Given the description of an element on the screen output the (x, y) to click on. 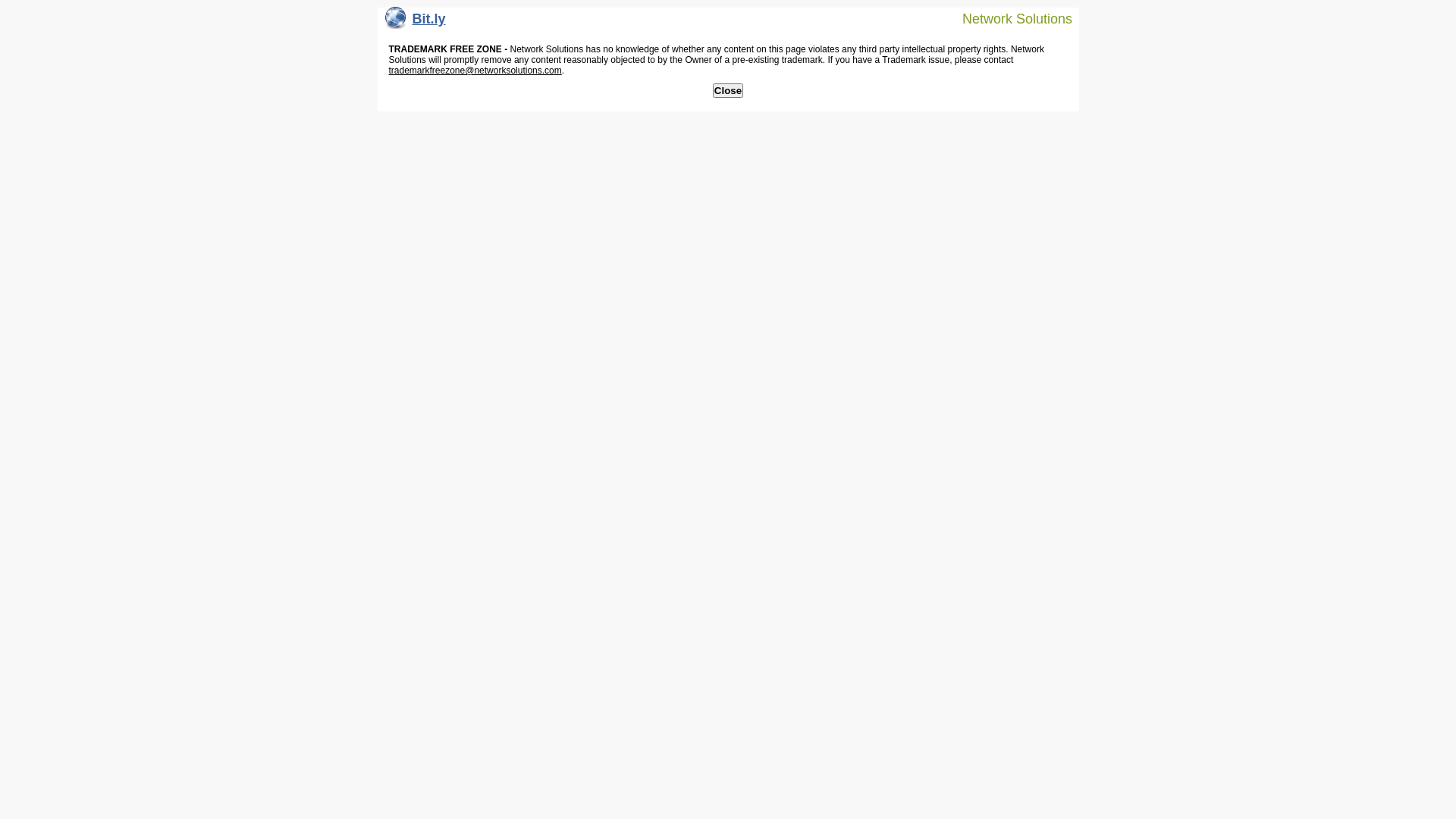
trademarkfreezone@networksolutions.com Element type: text (474, 70)
Close Element type: text (727, 90)
Network Solutions Element type: text (1007, 17)
Bit.ly Element type: text (415, 21)
